Given the description of an element on the screen output the (x, y) to click on. 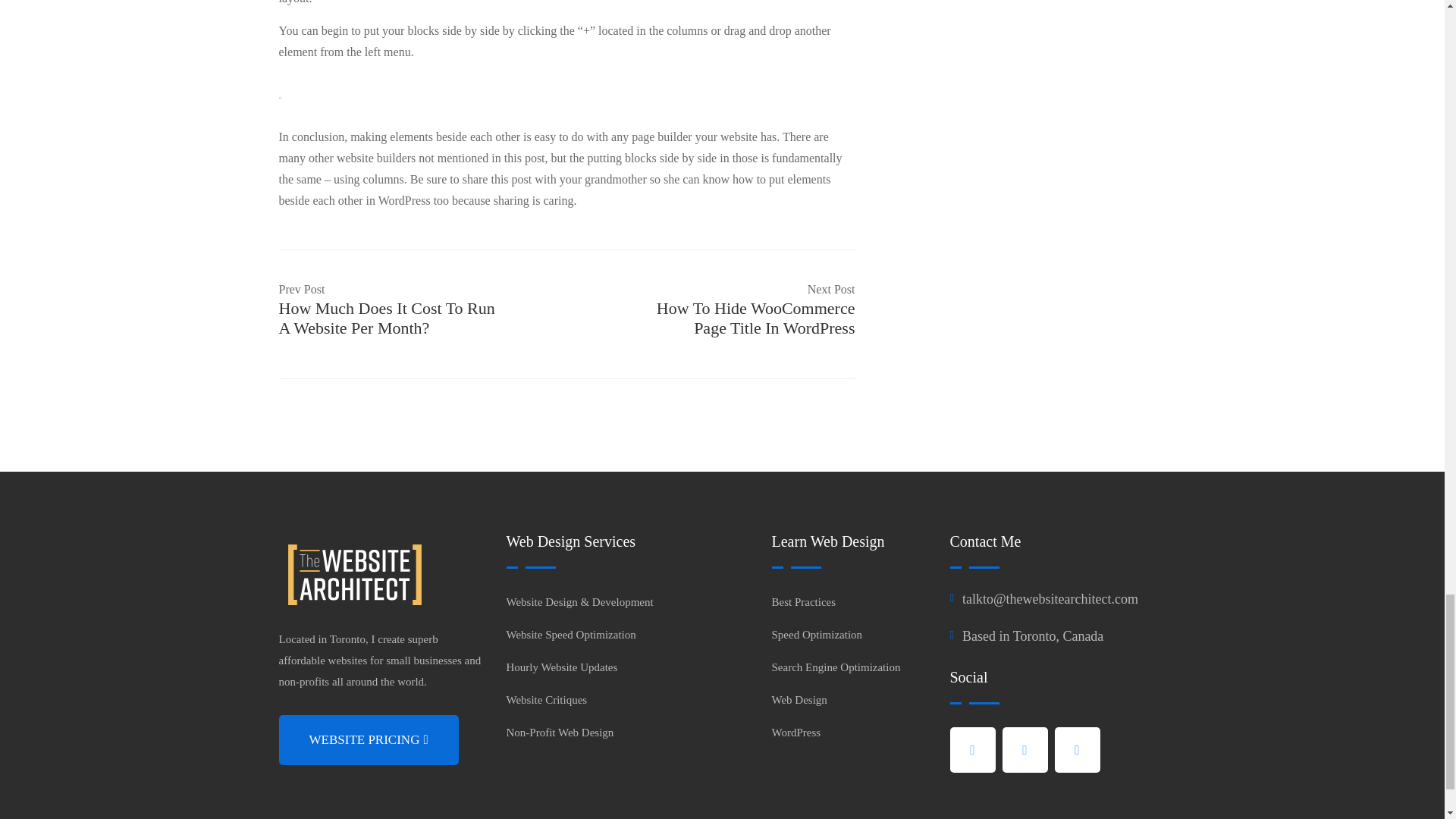
How Much Does It Cost To Run A Website Per Month? (387, 317)
Next Post (832, 288)
How To Hide WooCommerce Page Title In WordPress (756, 317)
Prev Post (301, 288)
